Given the description of an element on the screen output the (x, y) to click on. 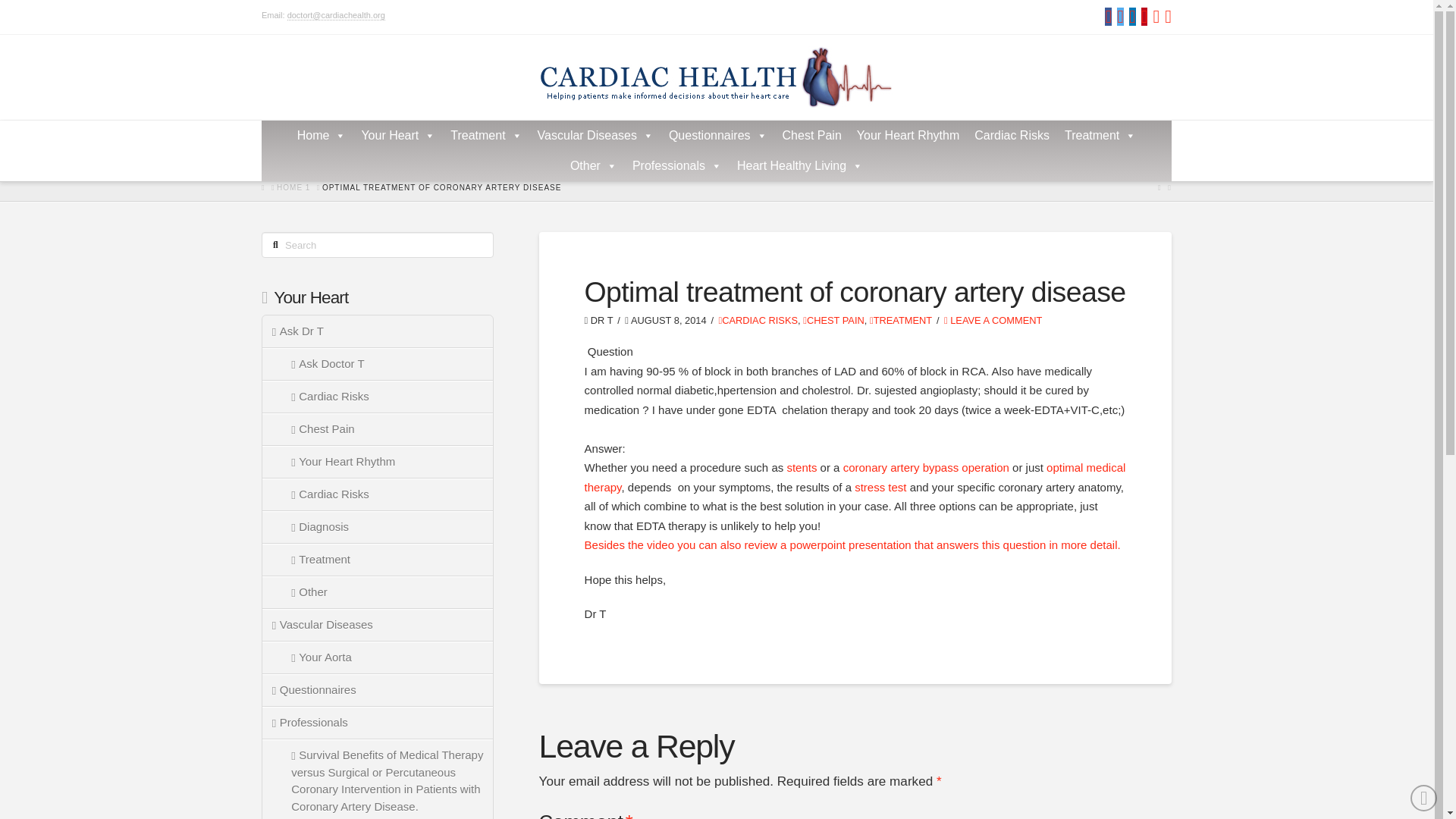
Home (321, 135)
You Are Here (441, 186)
Your Heart (397, 135)
